Given the description of an element on the screen output the (x, y) to click on. 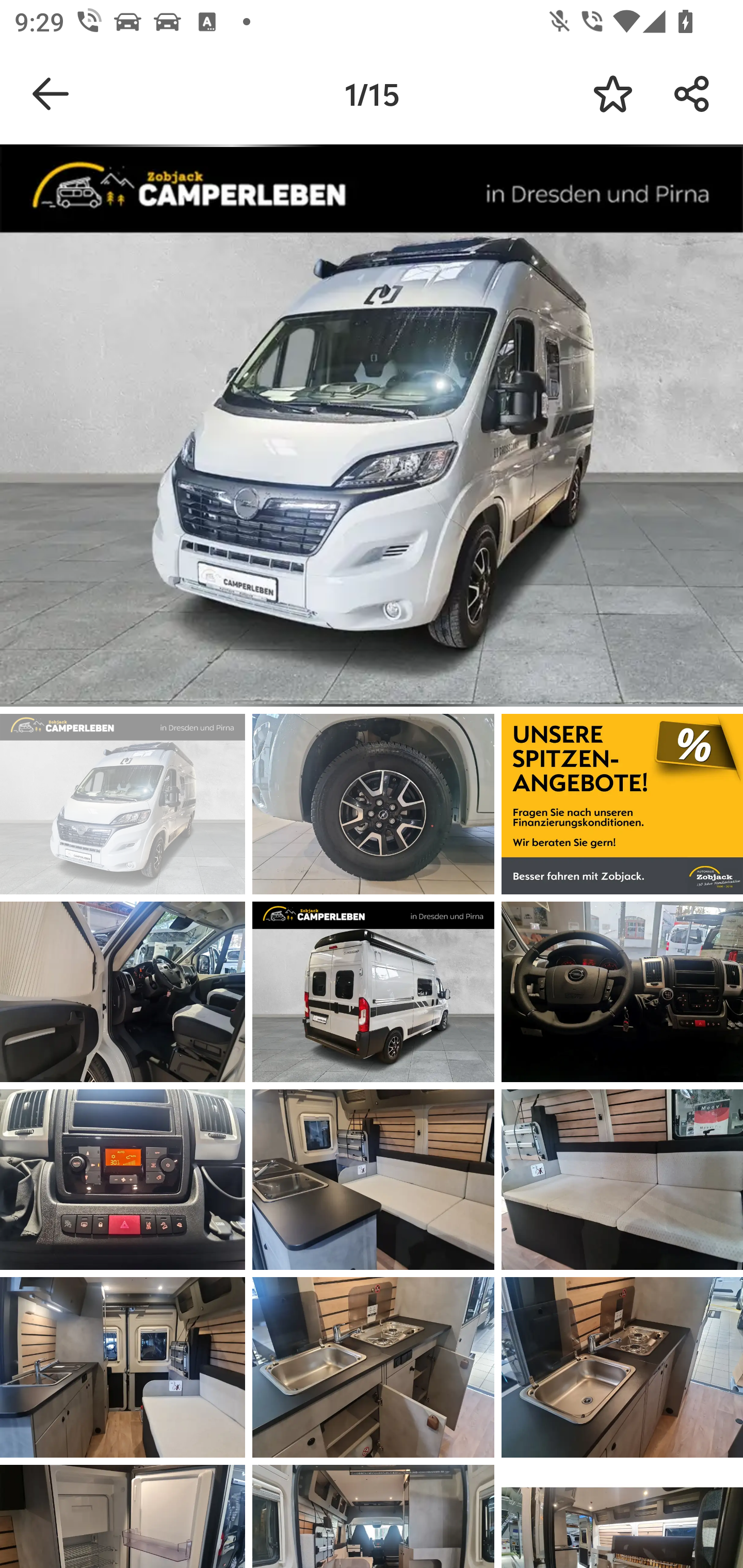
back button (50, 93)
share button (692, 93)
main image view (371, 428)
image (122, 803)
image (373, 803)
image (622, 803)
image (122, 991)
image (373, 991)
image (622, 991)
image (122, 1179)
image (373, 1179)
image (622, 1179)
image (122, 1367)
image (373, 1367)
image (622, 1367)
